Given the description of an element on the screen output the (x, y) to click on. 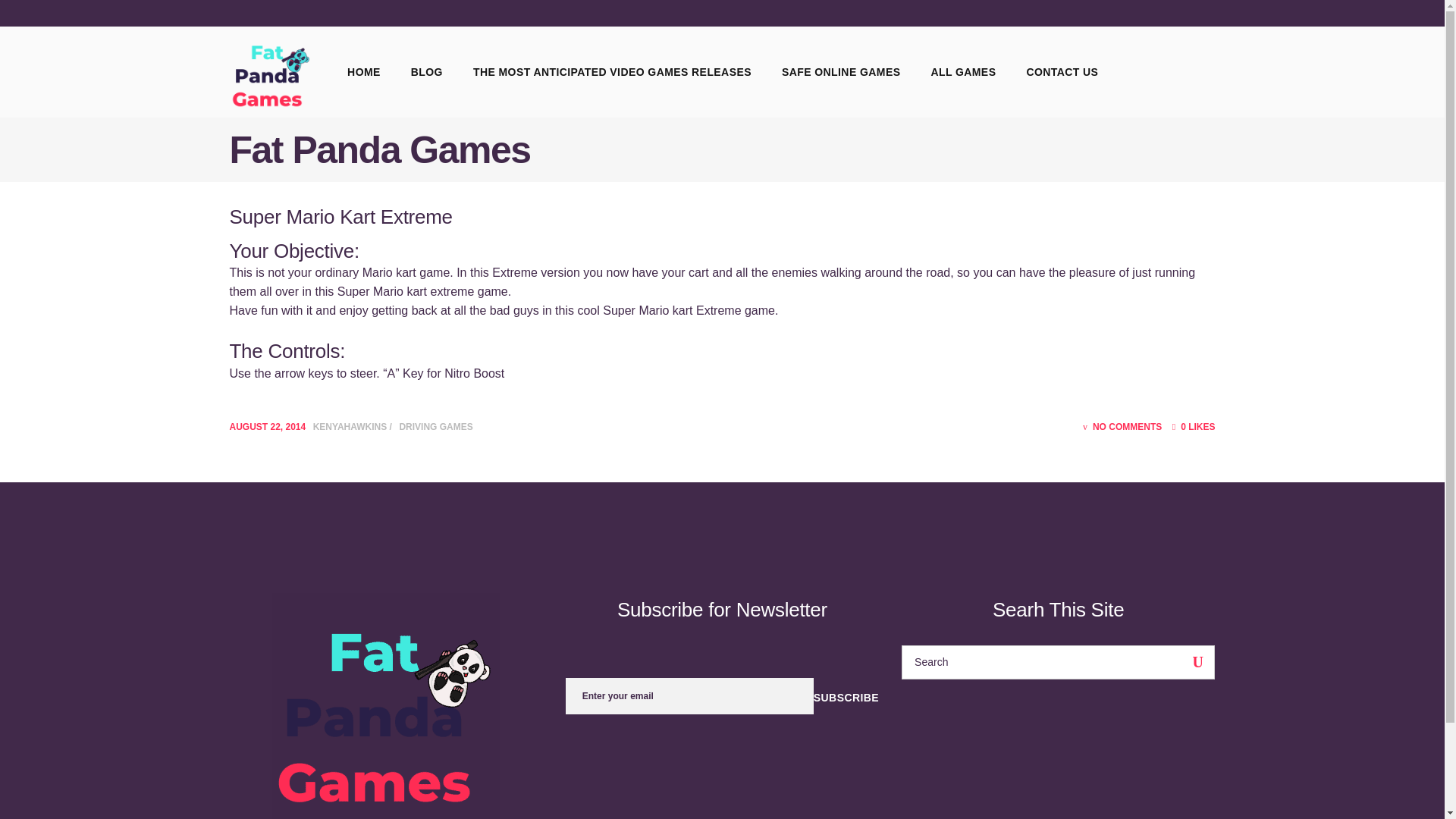
0 LIKES (1193, 426)
ALL GAMES (962, 71)
DRIVING GAMES (434, 426)
U (1197, 662)
SAFE ONLINE GAMES (841, 71)
Like this (1193, 426)
SUBSCRIBE (846, 698)
SUBSCRIBE (846, 698)
THE MOST ANTICIPATED VIDEO GAMES RELEASES (612, 71)
KENYAHAWKINS (351, 426)
NO COMMENTS (1122, 426)
U (1197, 662)
CONTACT US (1061, 71)
